Given the description of an element on the screen output the (x, y) to click on. 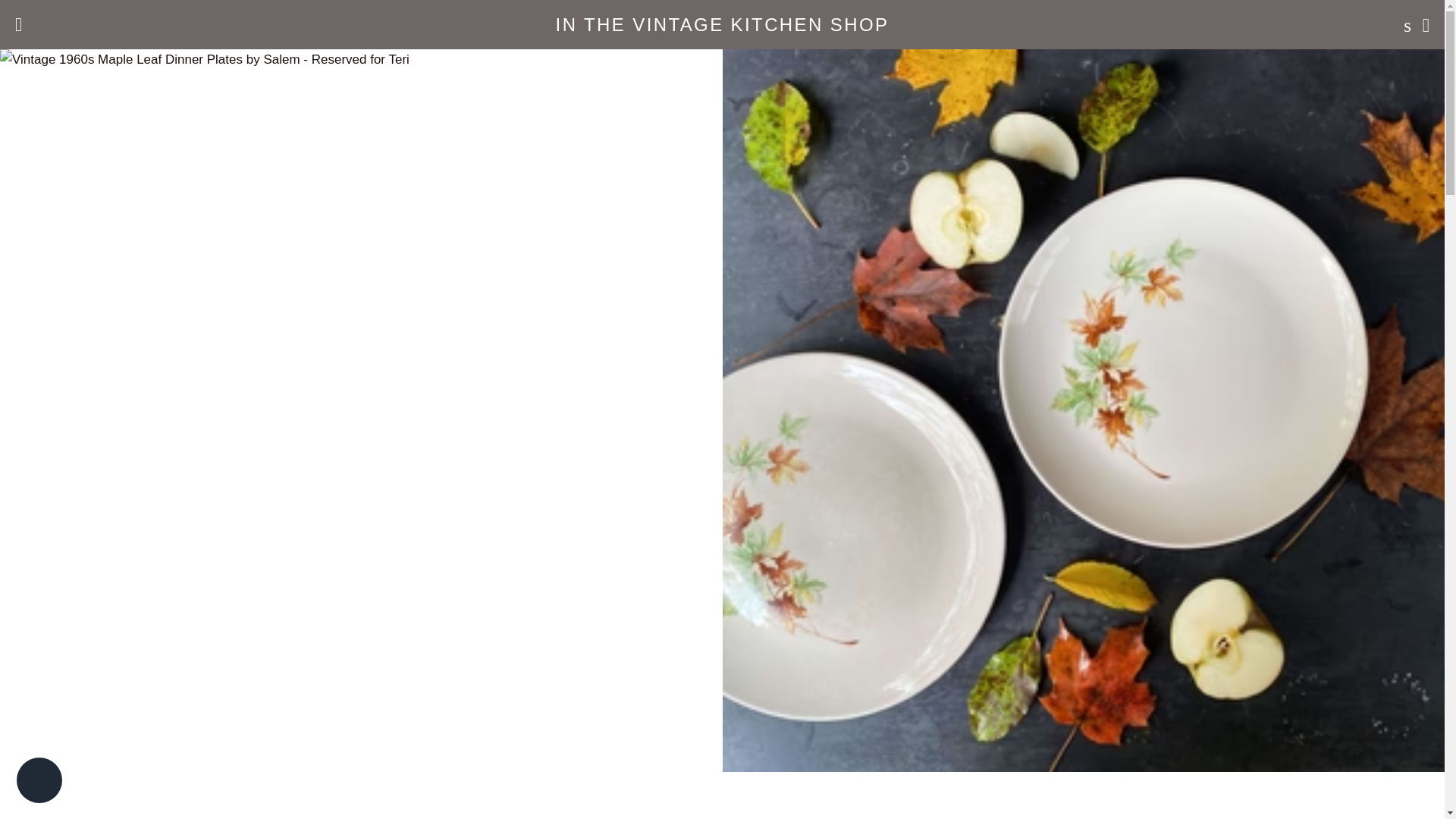
Shopify online store chat (38, 781)
IN THE VINTAGE KITCHEN SHOP (722, 24)
